Given the description of an element on the screen output the (x, y) to click on. 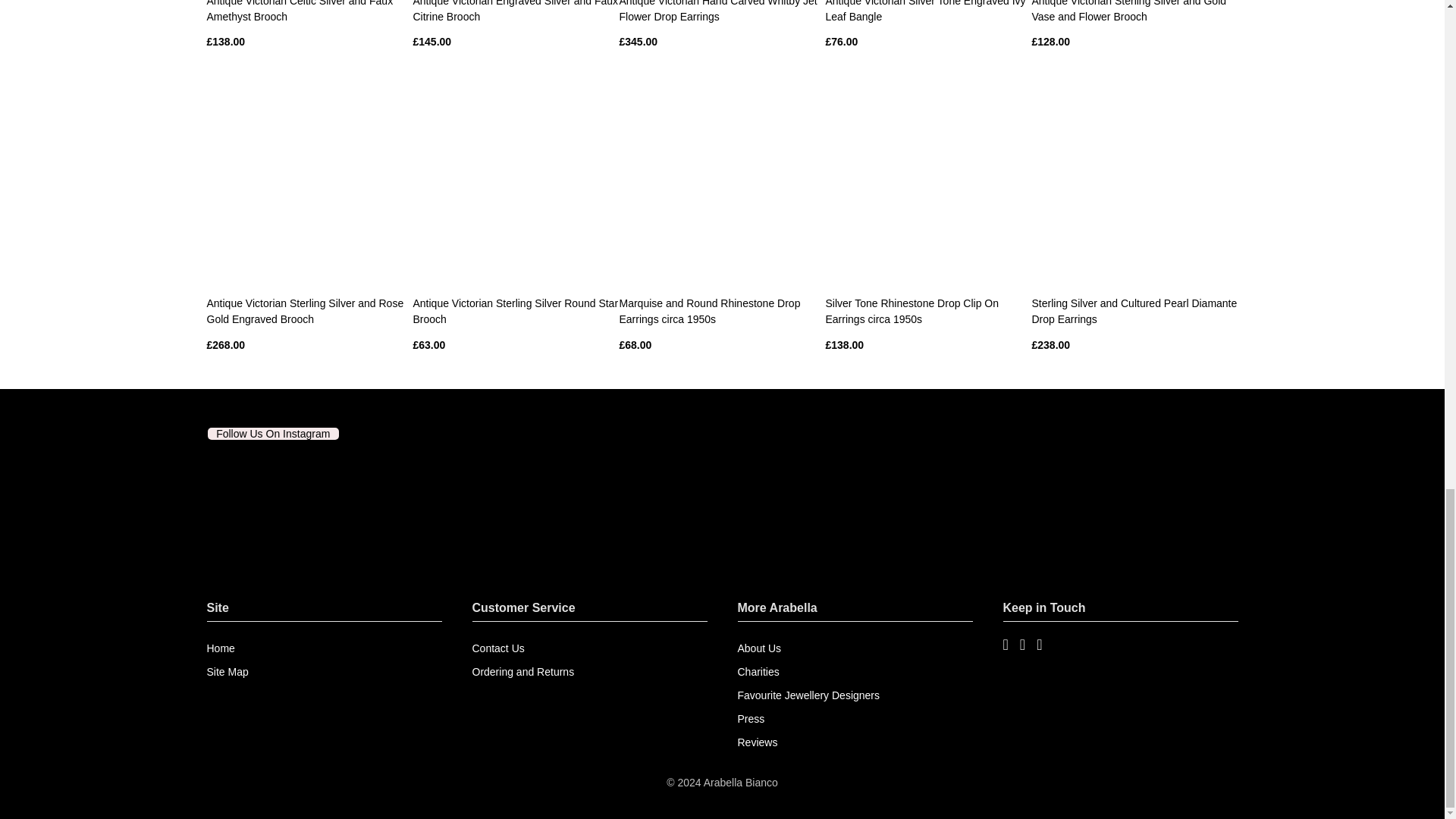
Antique Victorian Celtic Silver and Faux Amethyst Brooch (299, 11)
Antique Victorian Silver Tone Engraved Ivy Leaf Bangle (925, 11)
Antique Victorian Engraved Silver and Faux Citrine Brooch (514, 11)
